Given the description of an element on the screen output the (x, y) to click on. 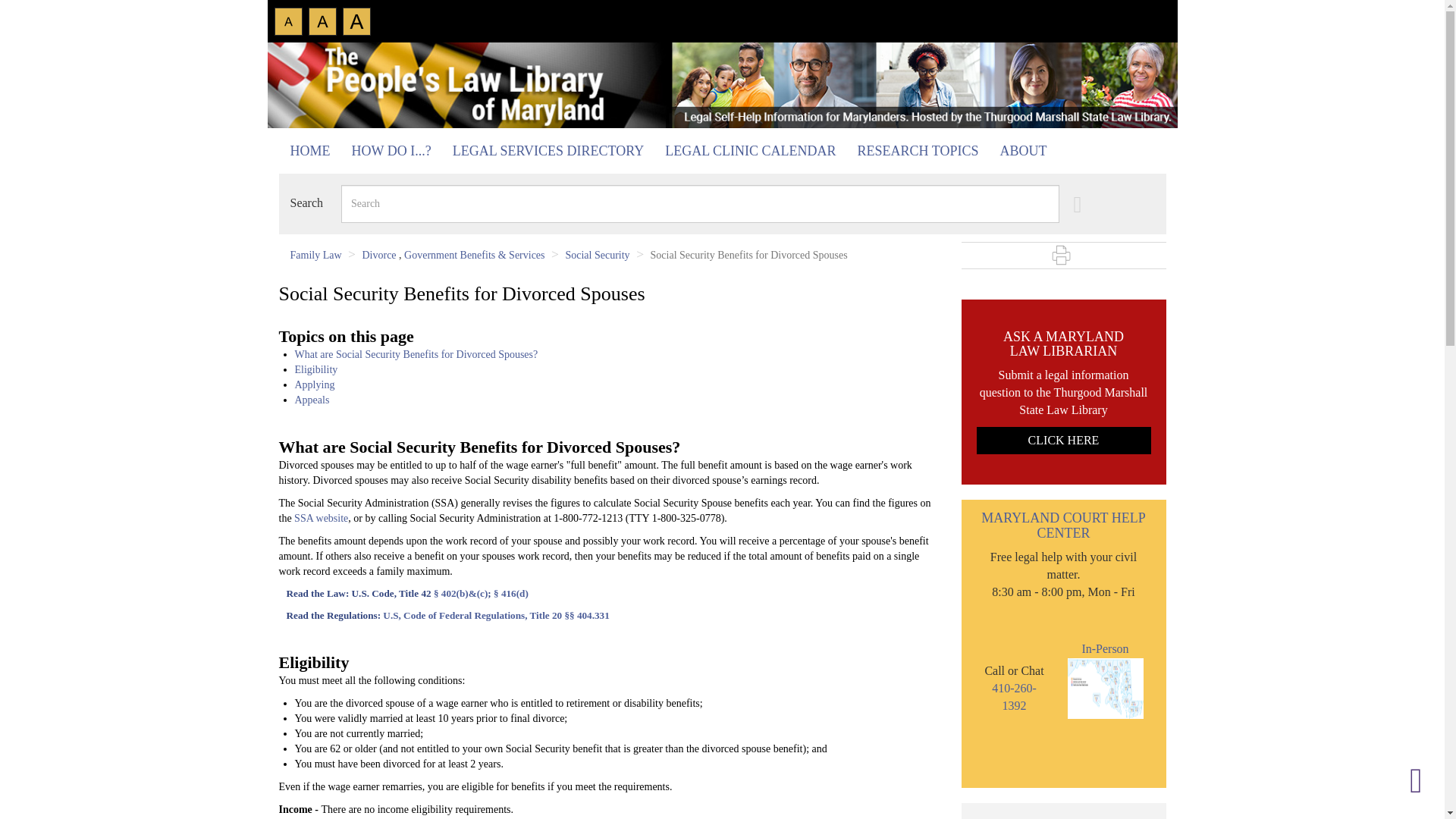
LEGAL CLINIC CALENDAR (750, 150)
Family Law (314, 254)
HOW DO I...? (390, 150)
HOME (310, 150)
LEGAL SERVICES DIRECTORY (547, 150)
